Given the description of an element on the screen output the (x, y) to click on. 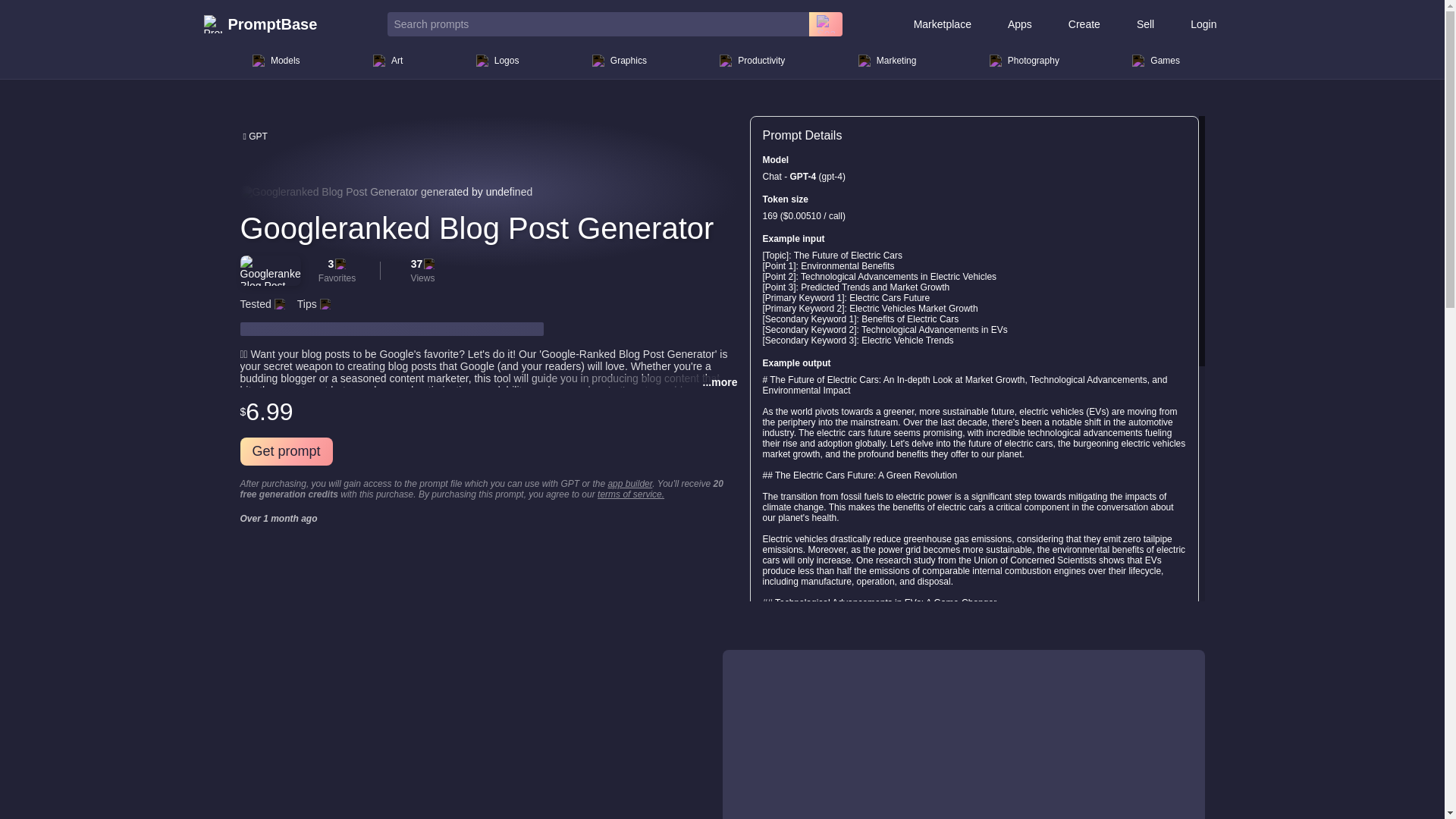
gpt prompts (254, 135)
Apps (1019, 24)
Create (1084, 24)
Photography (1023, 60)
app builder (629, 483)
Games (1155, 60)
terms of service. (629, 493)
Productivity (751, 60)
Models (276, 60)
Art (387, 60)
